Given the description of an element on the screen output the (x, y) to click on. 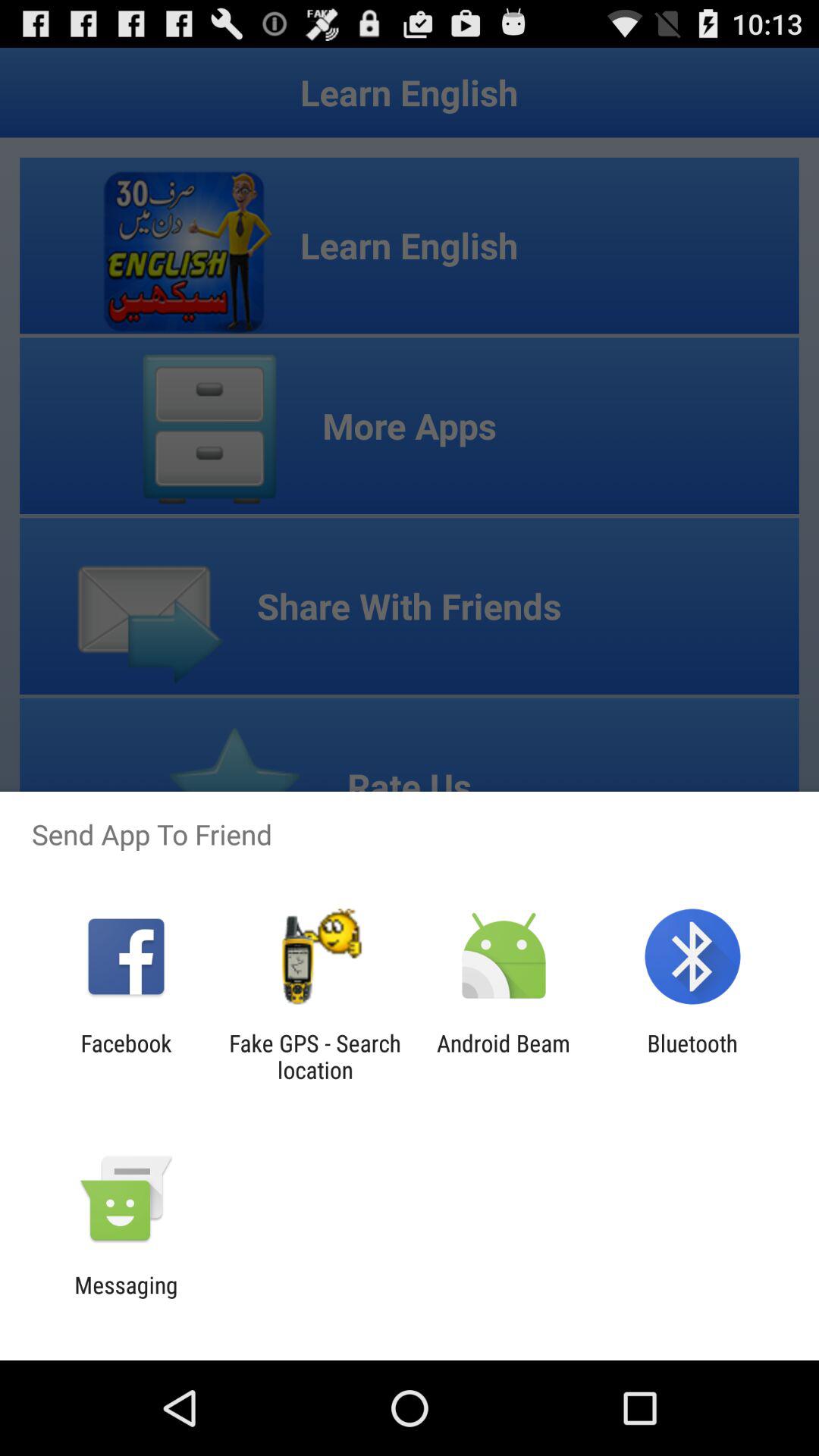
open messaging item (126, 1298)
